Given the description of an element on the screen output the (x, y) to click on. 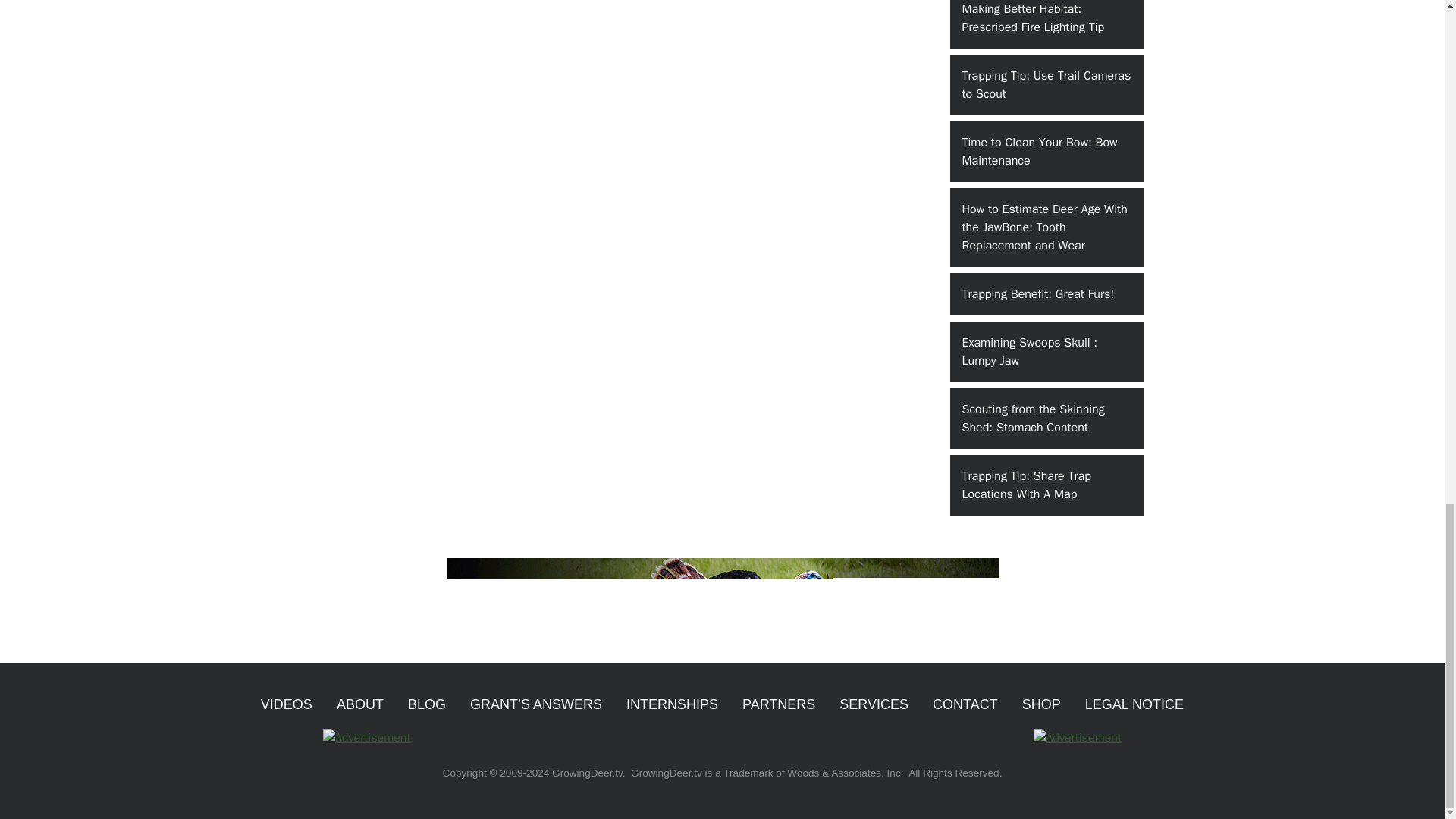
Trapping Tip: Share Trap Locations With A Map (1045, 485)
Scouting from the Skinning Shed: Stomach Content (1045, 418)
Time to Clean Your Bow: Bow Maintenance (1045, 151)
Trapping Tip: Use Trail Cameras to Scout (1045, 84)
Trapping Benefit: Great Furs! (1045, 293)
Making Better Habitat: Prescribed Fire Lighting Tip (1045, 24)
VIDEOS (286, 704)
Examining Swoops Skull : Lumpy Jaw (1045, 351)
